Given the description of an element on the screen output the (x, y) to click on. 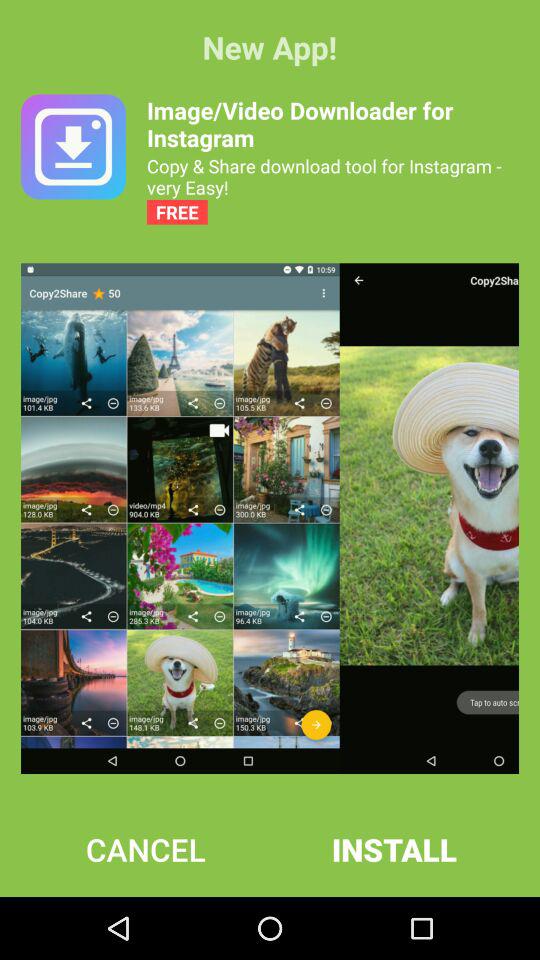
scroll to cancel icon (145, 849)
